Given the description of an element on the screen output the (x, y) to click on. 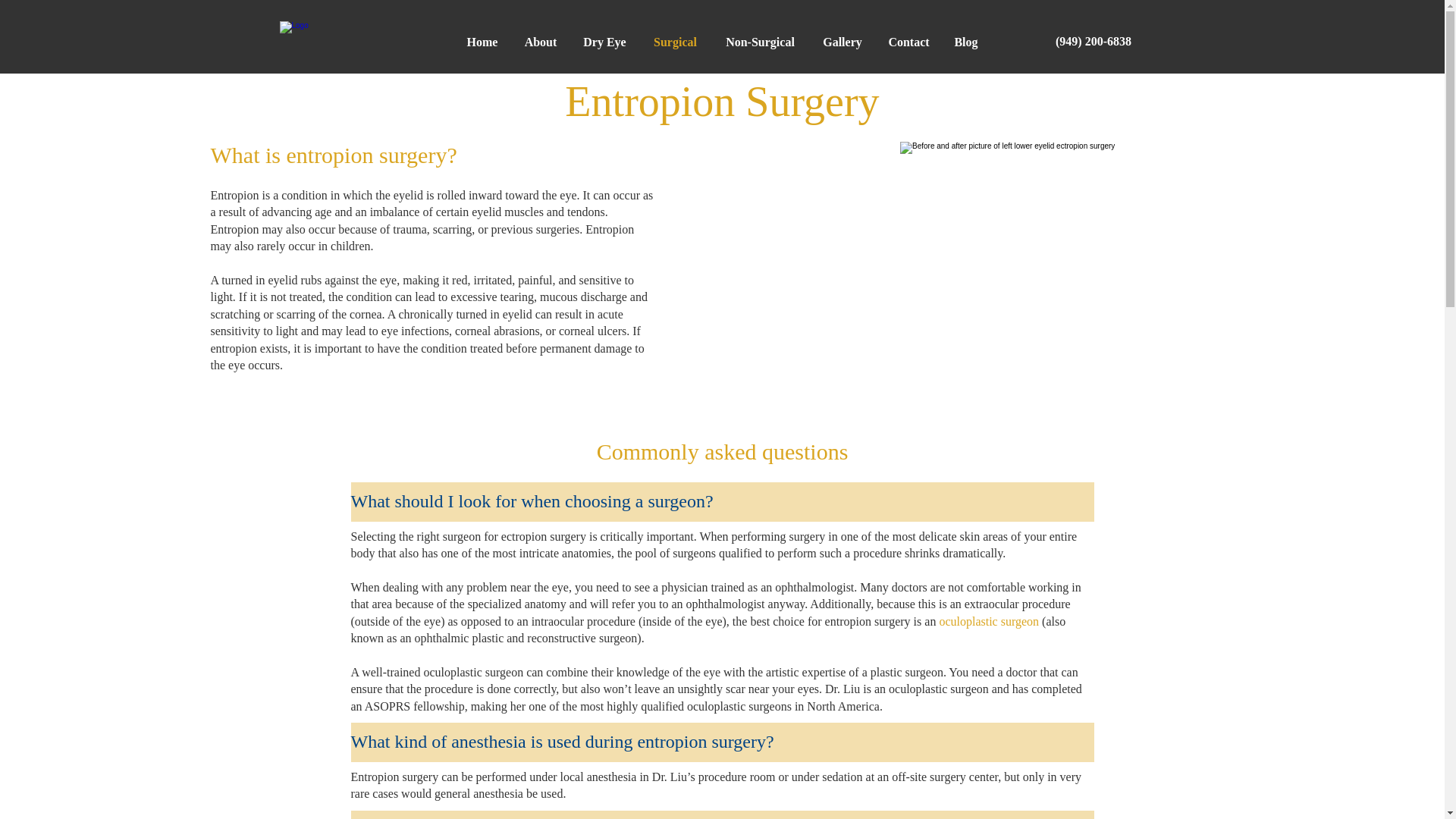
Surgical (675, 42)
Dry Eye (605, 42)
Gallery (842, 42)
Non-Surgical (760, 42)
Home (482, 42)
